Given the description of an element on the screen output the (x, y) to click on. 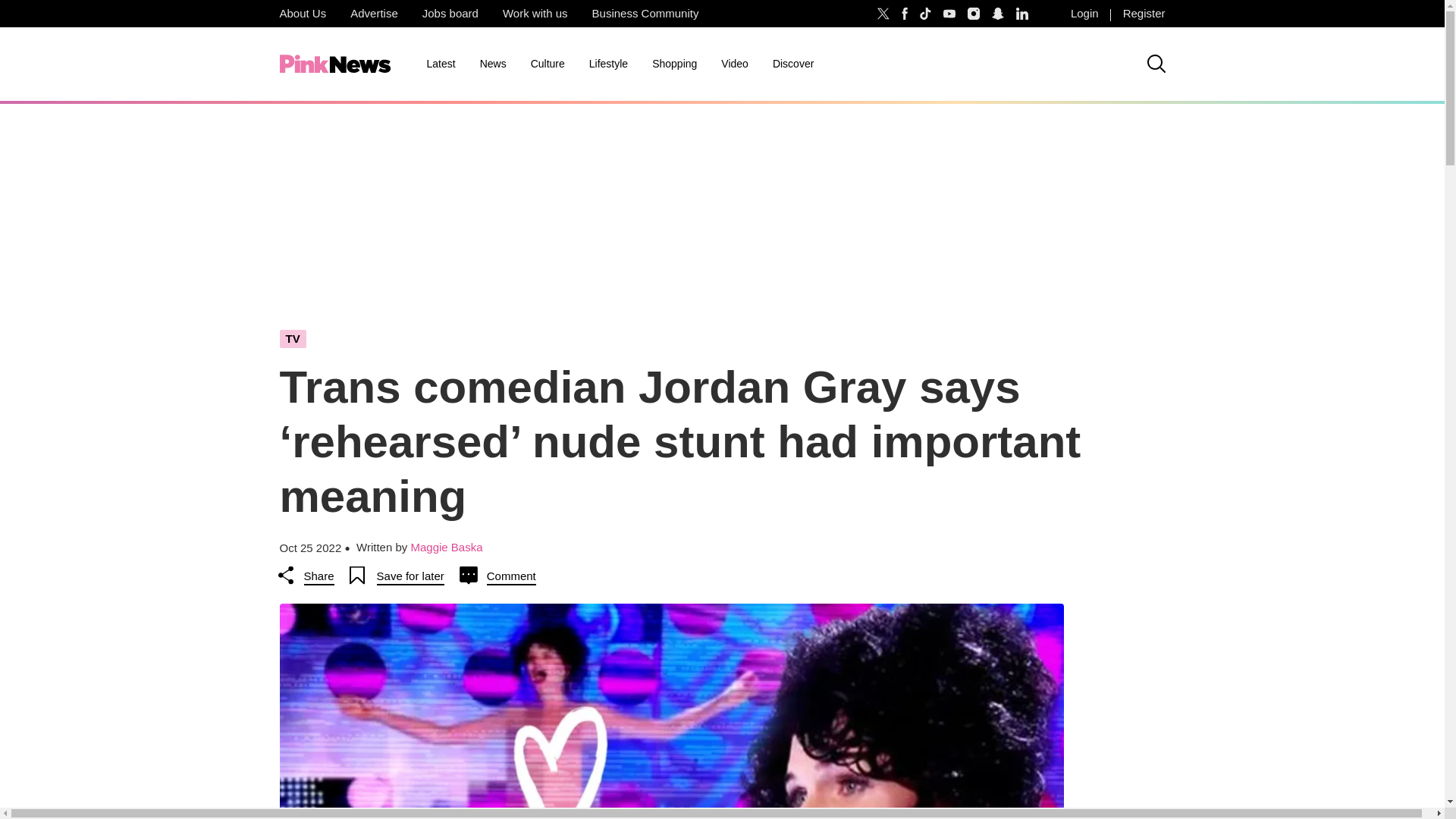
Follow PinkNews on LinkedIn (1021, 13)
Login (1084, 13)
News (493, 63)
Work with us (534, 13)
Register (1143, 13)
Latest (440, 63)
Lifestyle (608, 63)
About Us (301, 13)
Culture (547, 63)
Business Community (645, 13)
